Given the description of an element on the screen output the (x, y) to click on. 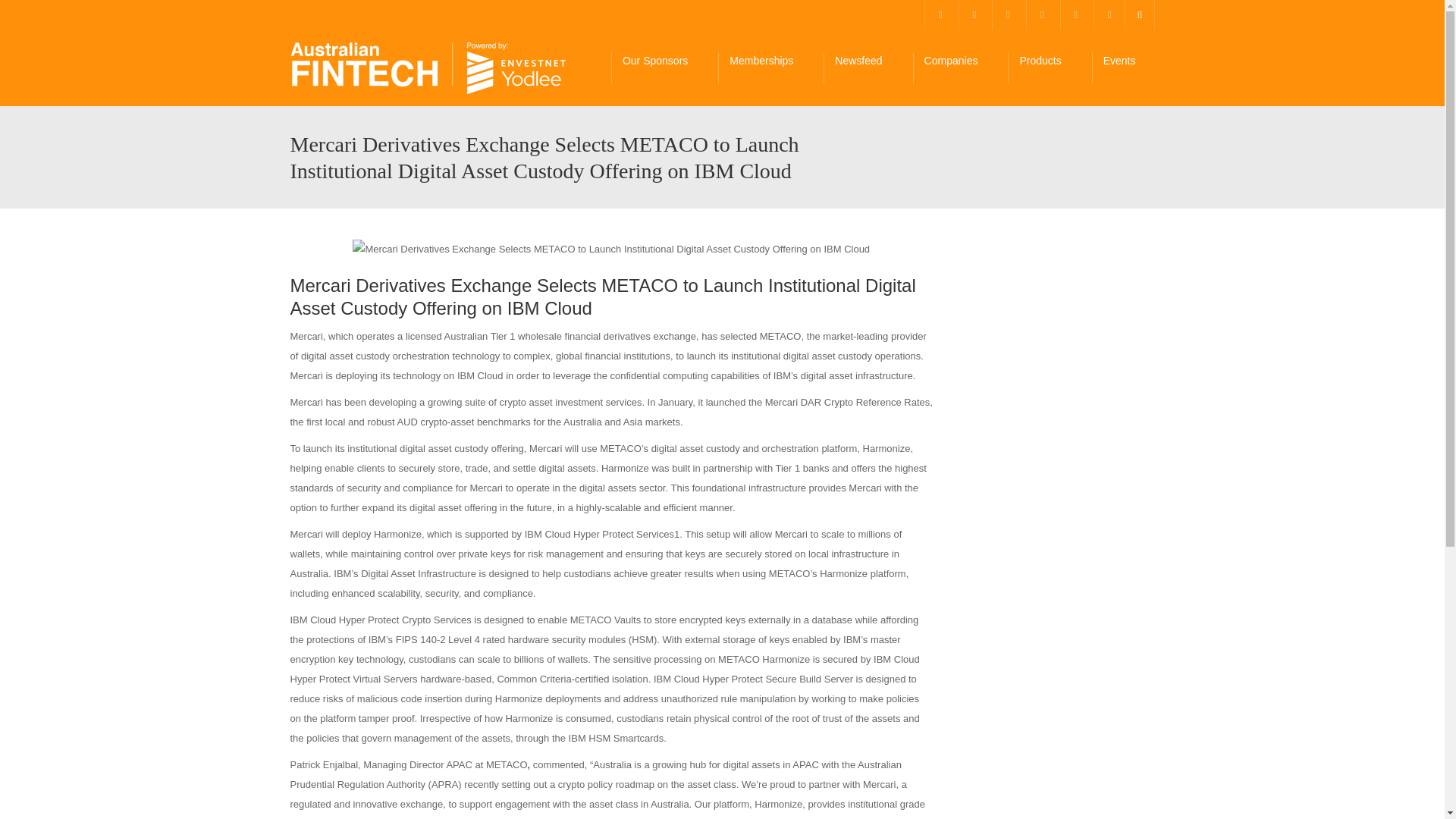
Memberships (770, 68)
Newsfeed (868, 68)
Companies (960, 68)
Our Sponsors (664, 68)
Events (1129, 68)
Products (1048, 68)
